Given the description of an element on the screen output the (x, y) to click on. 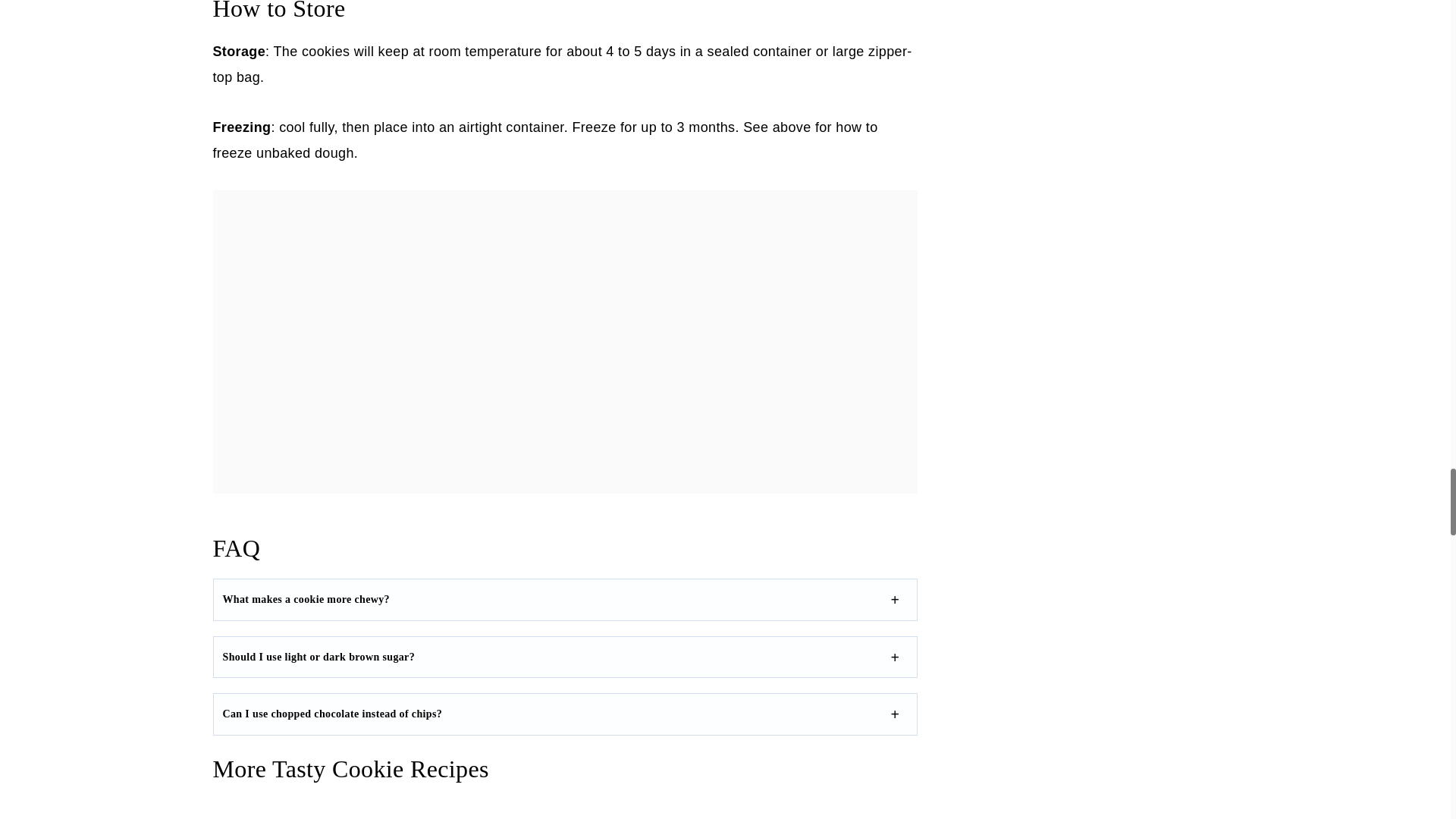
Cherry Blondies With Almonds (319, 809)
St. Patrick's Day Cookies (837, 809)
Lucky Charms Marshmallow Treats (665, 809)
Lemon Easter Cookies (492, 809)
